Given the description of an element on the screen output the (x, y) to click on. 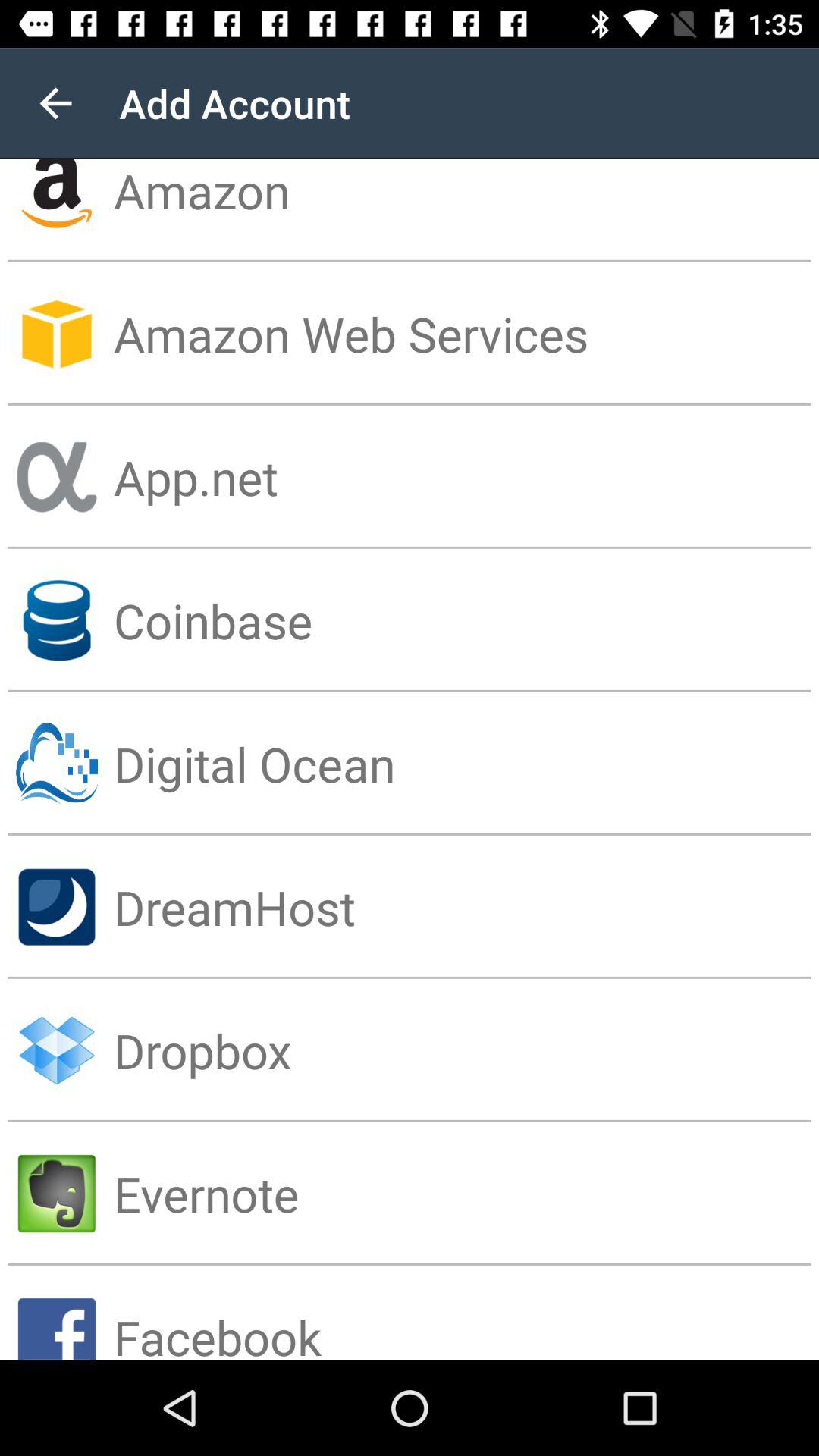
choose dreamhost (466, 906)
